Given the description of an element on the screen output the (x, y) to click on. 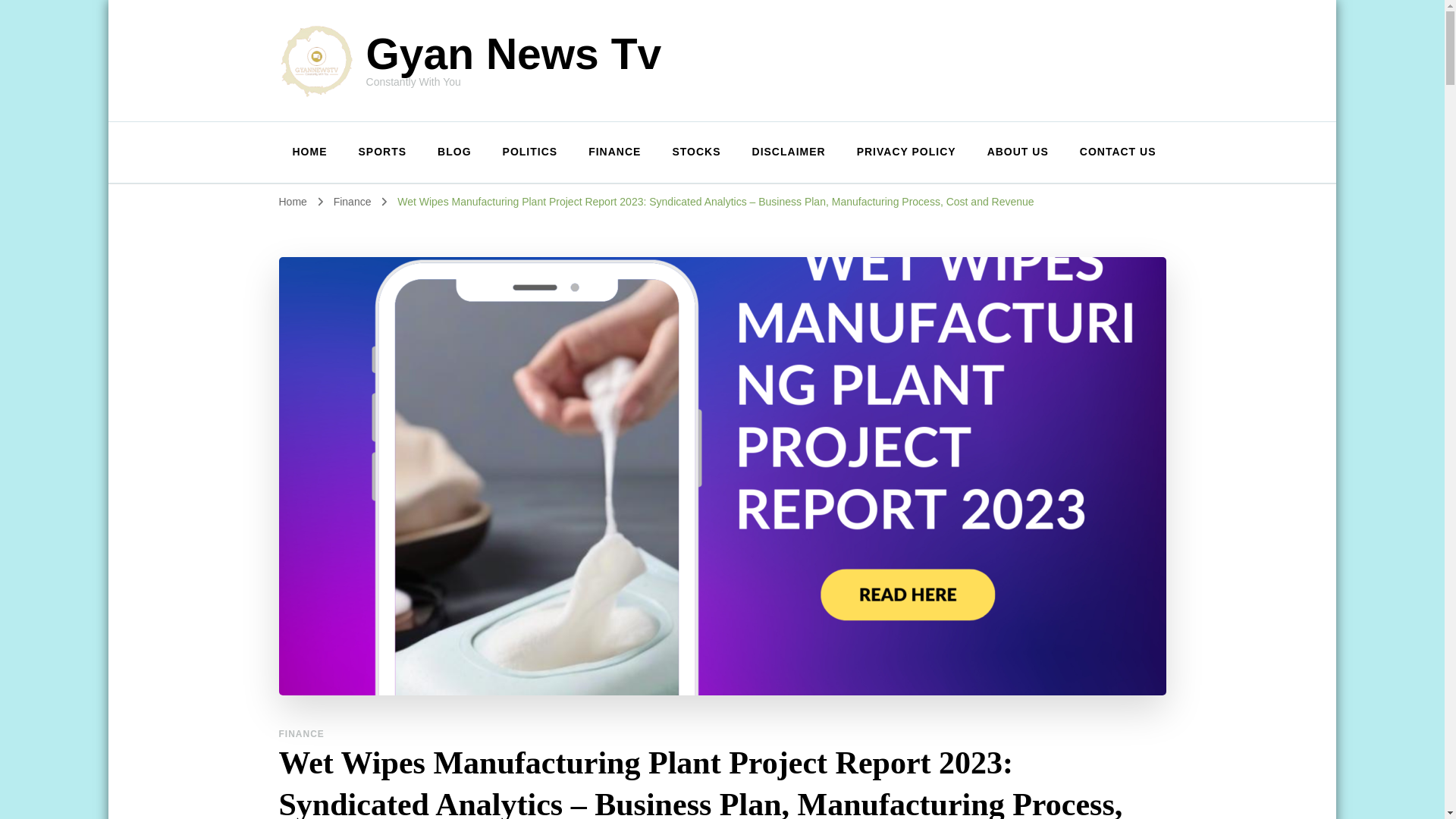
CONTACT US (1110, 152)
FINANCE (614, 152)
ABOUT US (1018, 152)
FINANCE (301, 733)
Finance (353, 201)
SPORTS (382, 152)
STOCKS (695, 152)
Gyan News Tv (514, 53)
HOME (309, 152)
Home (293, 201)
